Given the description of an element on the screen output the (x, y) to click on. 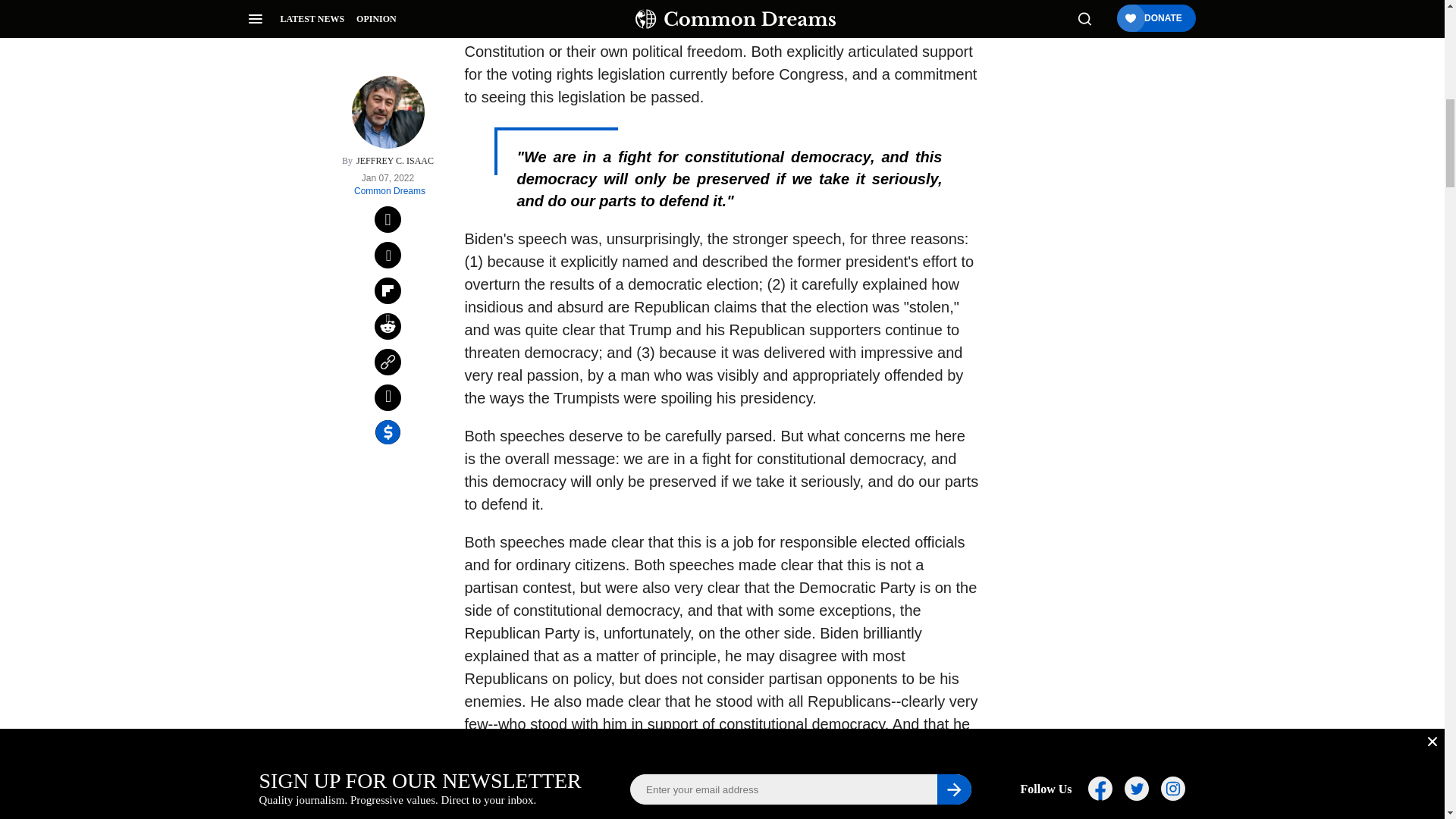
Copy this link to clipboard (387, 136)
Donate Button (1051, 207)
